Given the description of an element on the screen output the (x, y) to click on. 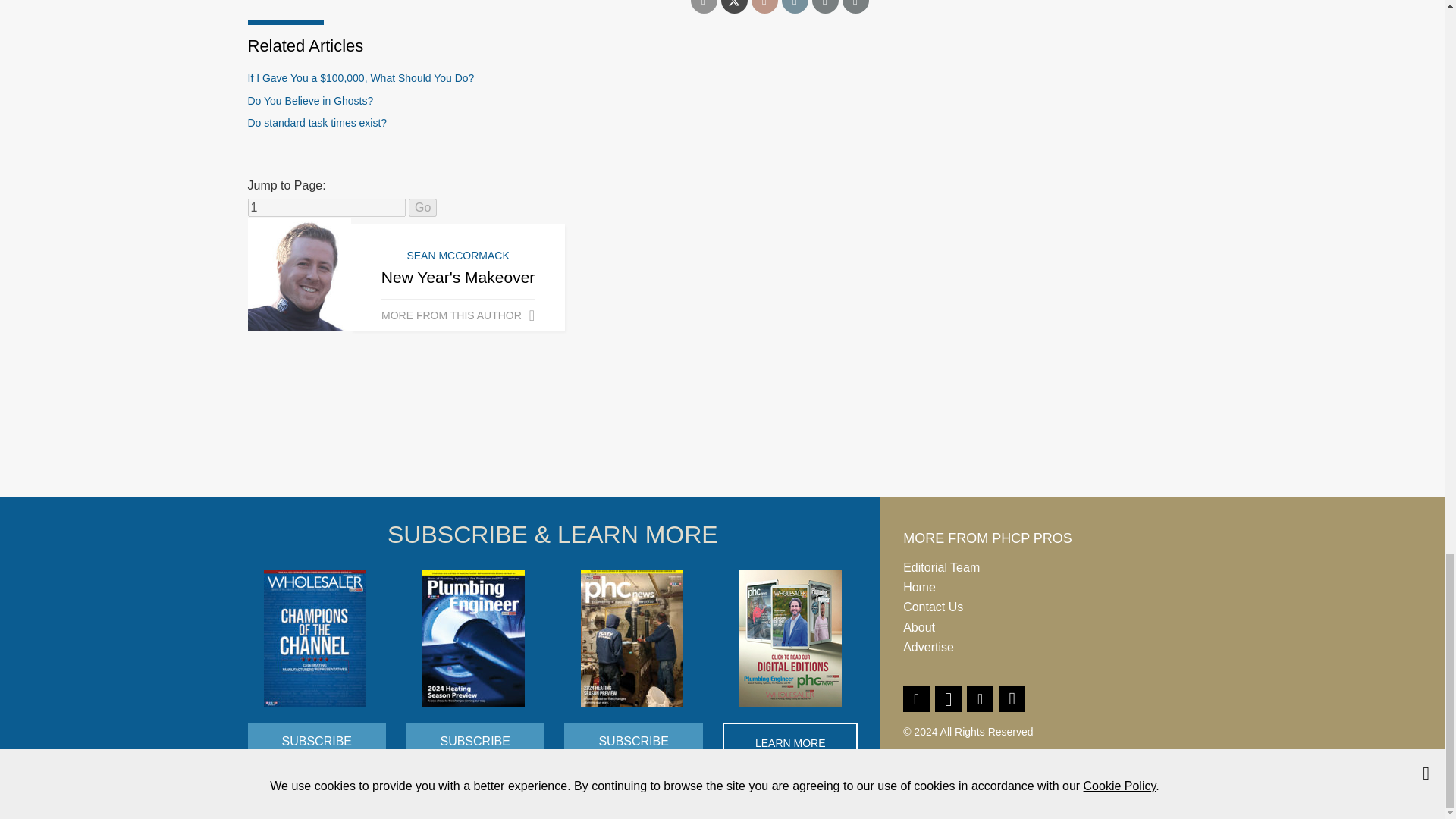
3rd party ad content (721, 440)
1 (325, 208)
Go (422, 208)
